Given the description of an element on the screen output the (x, y) to click on. 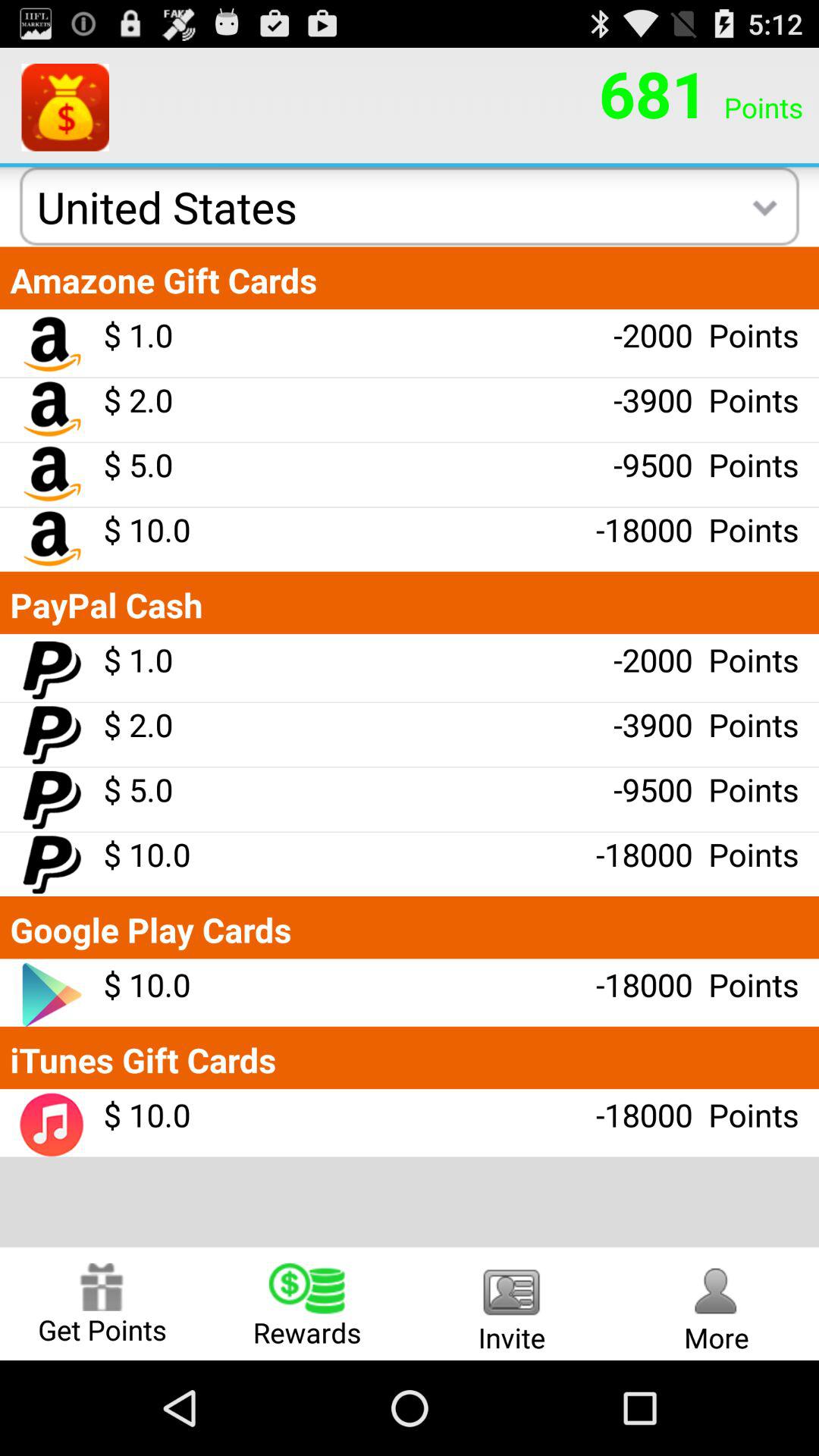
turn on radio button to the right of the get points icon (306, 1303)
